Given the description of an element on the screen output the (x, y) to click on. 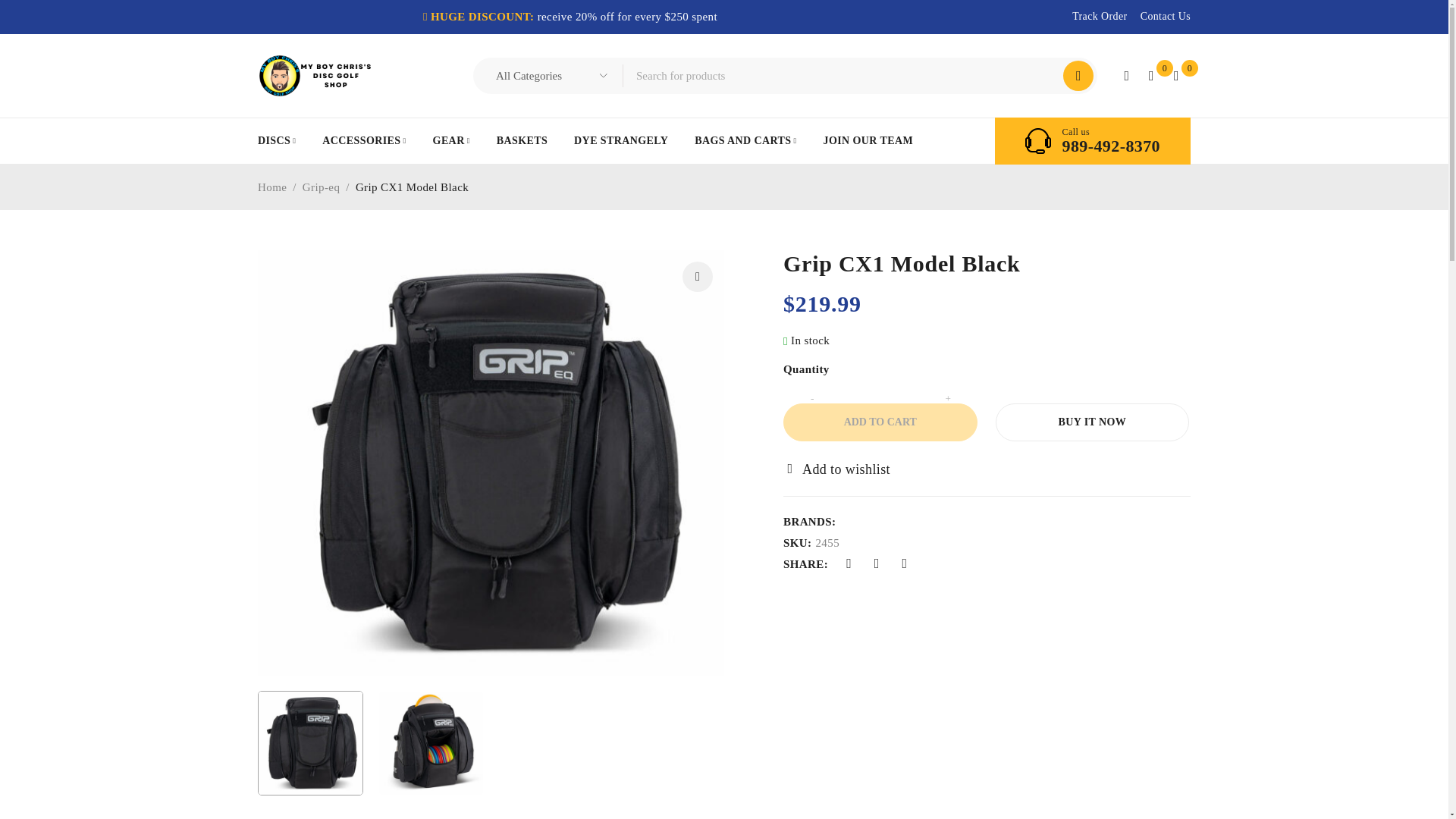
Search (1077, 75)
My Account (1125, 75)
View your shopping cart (1174, 75)
ACCESSORIES (363, 140)
Wishlist (1150, 75)
Contact Us (1165, 16)
MBCDiscs (314, 75)
Search (1077, 75)
GEAR (451, 140)
Track Order (1098, 16)
0 (1150, 75)
0 (1174, 75)
- (812, 398)
DISCS (276, 140)
Search (1077, 75)
